Given the description of an element on the screen output the (x, y) to click on. 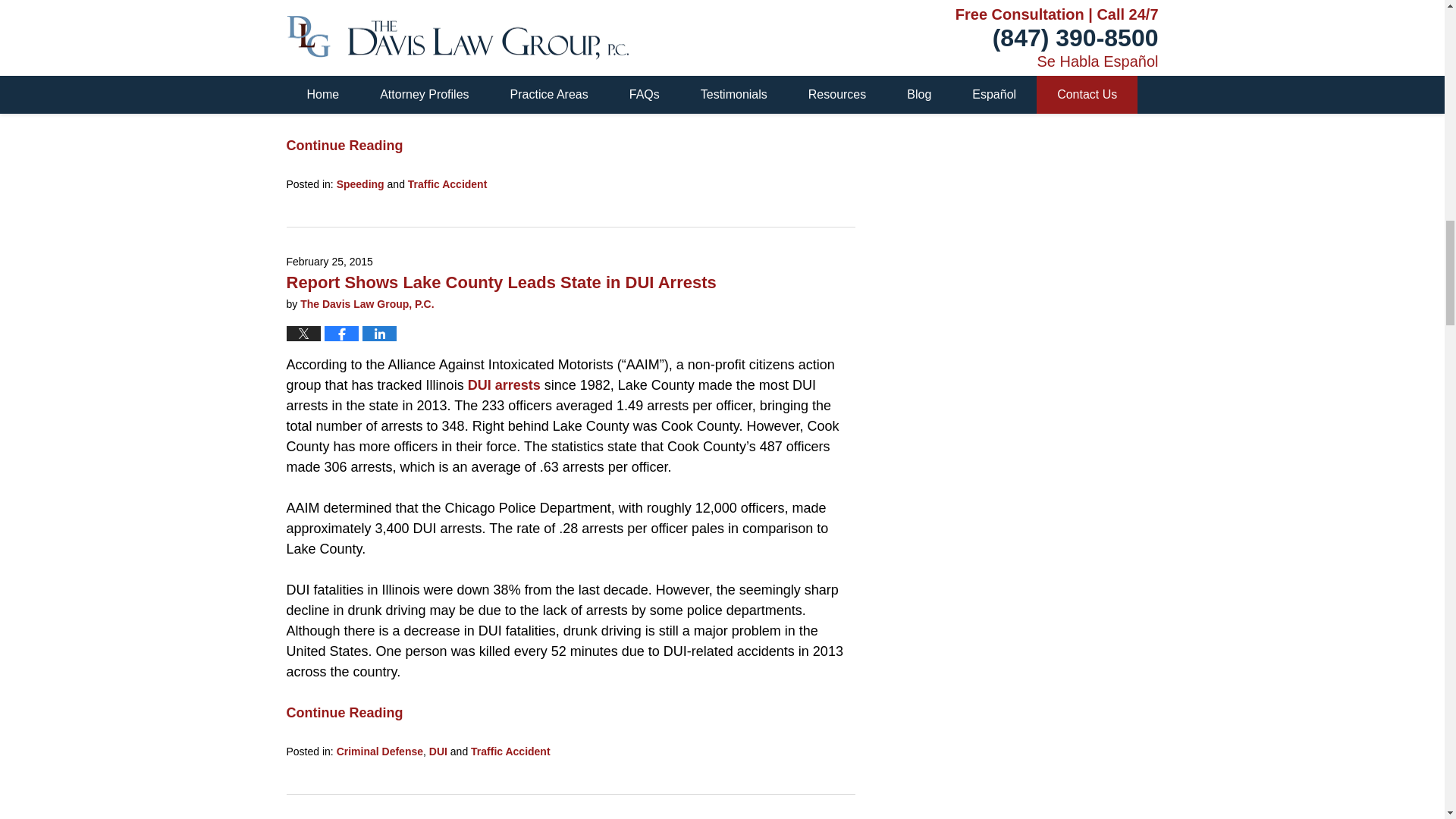
View all posts in Traffic Accident (447, 184)
View all posts in Speeding (360, 184)
